Given the description of an element on the screen output the (x, y) to click on. 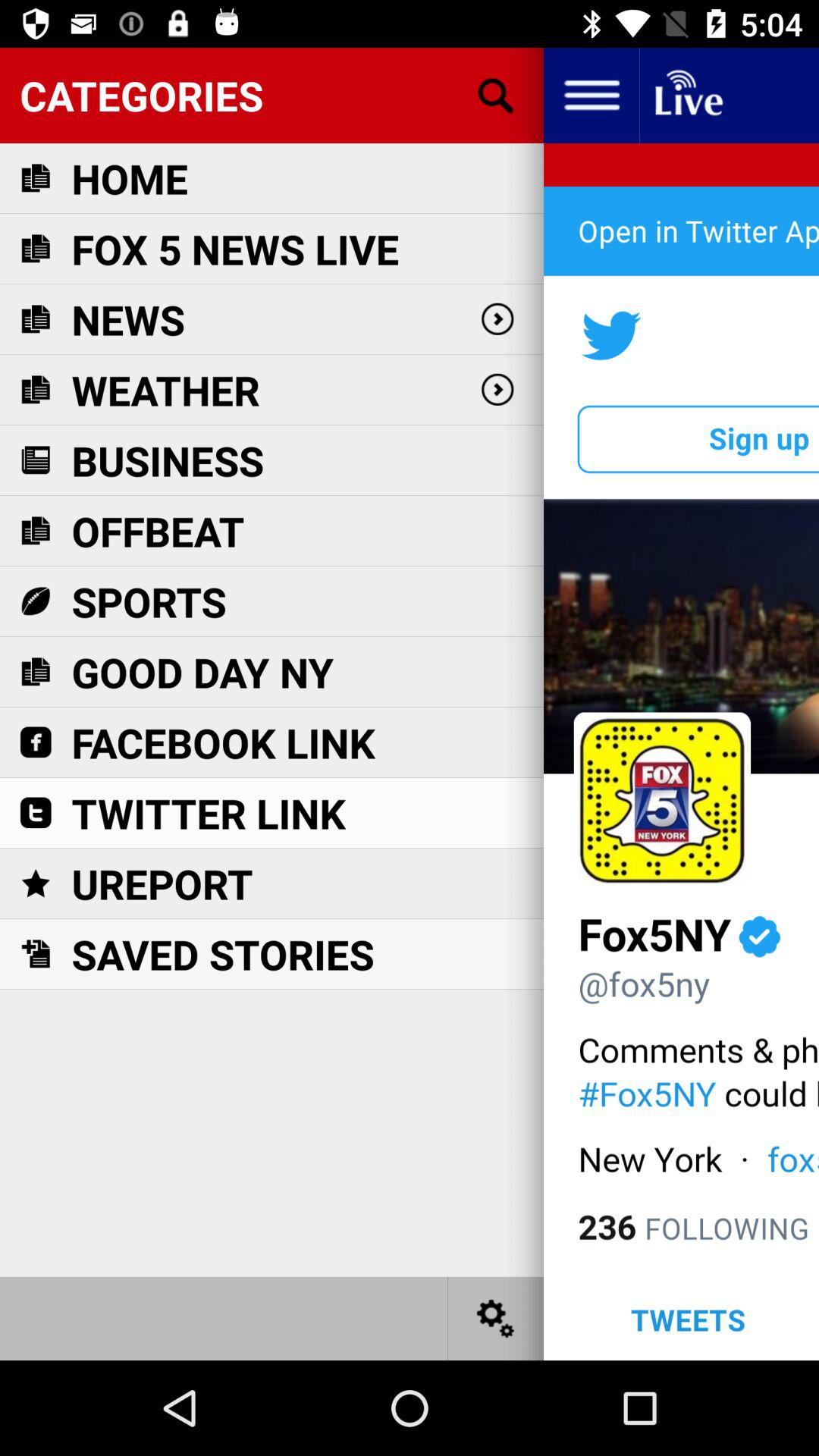
open search bar (495, 95)
